Given the description of an element on the screen output the (x, y) to click on. 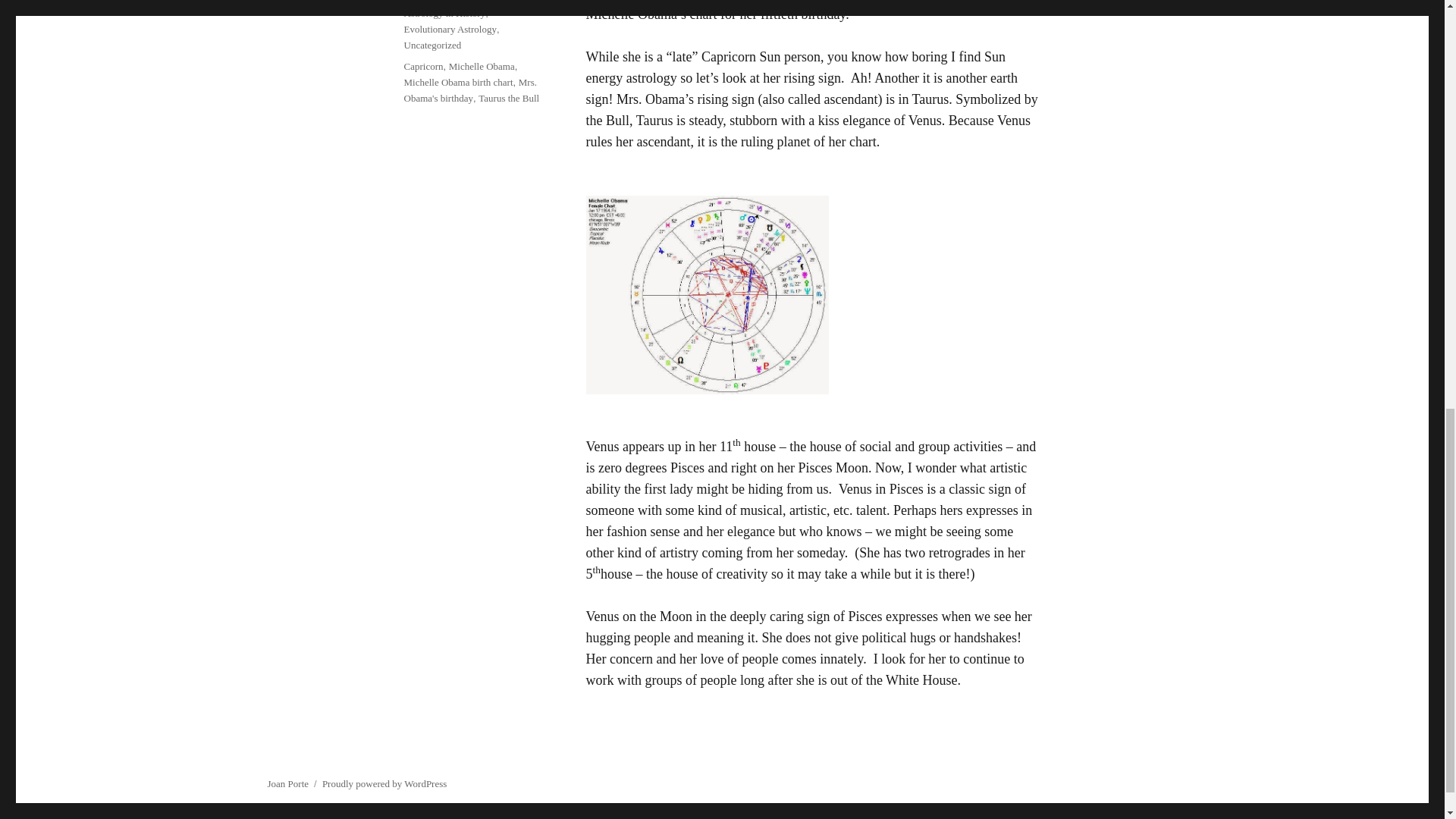
Uncategorized (432, 44)
Capricorn (422, 66)
Evolutionary Astrology (449, 29)
Proudly powered by WordPress (383, 783)
Michelle Obama (481, 66)
Mrs. Obama's birthday (469, 90)
Michelle Obama birth chart (457, 81)
Joan Porte (287, 783)
Taurus the Bull (508, 98)
Astrology in History (443, 12)
